Given the description of an element on the screen output the (x, y) to click on. 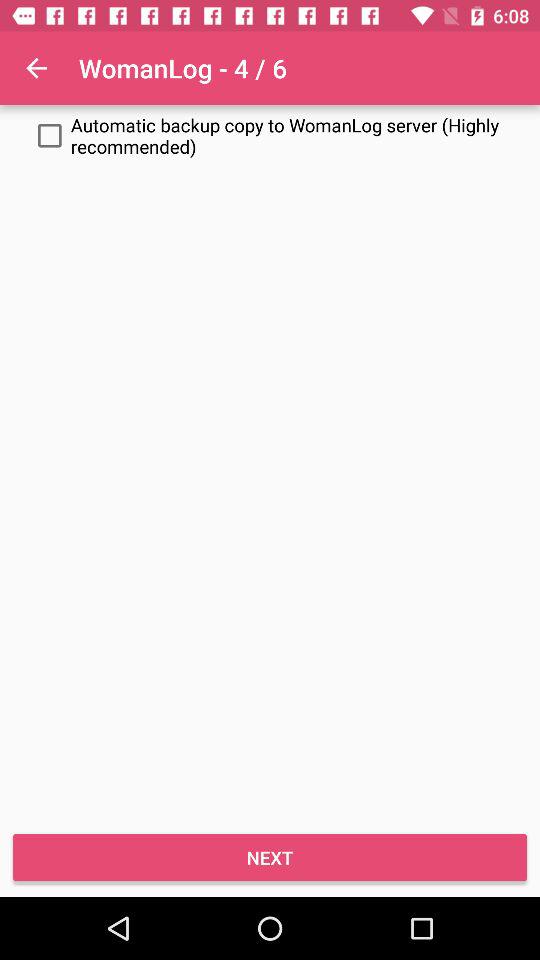
choose item to the left of the womanlog - 4 / 6 app (36, 68)
